Given the description of an element on the screen output the (x, y) to click on. 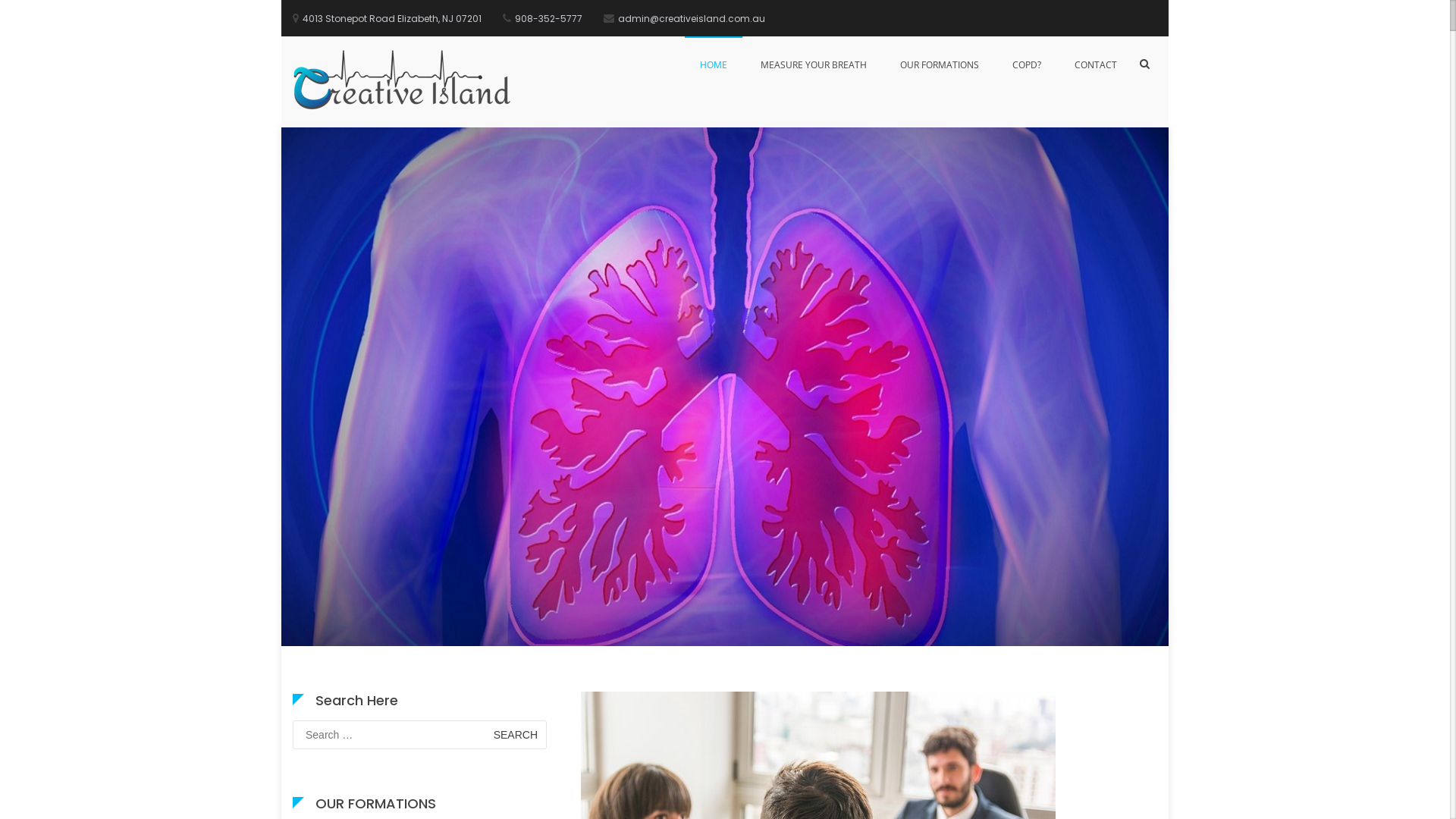
CONTACT Element type: text (1095, 65)
HOME Element type: text (713, 65)
COPD? Element type: text (1026, 65)
Creative Island Element type: text (581, 91)
Search Element type: text (1106, 145)
OUR FORMATIONS Element type: text (939, 65)
Skip to content Element type: text (280, 126)
Search Element type: text (515, 734)
MEASURE YOUR BREATH Element type: text (813, 65)
